Given the description of an element on the screen output the (x, y) to click on. 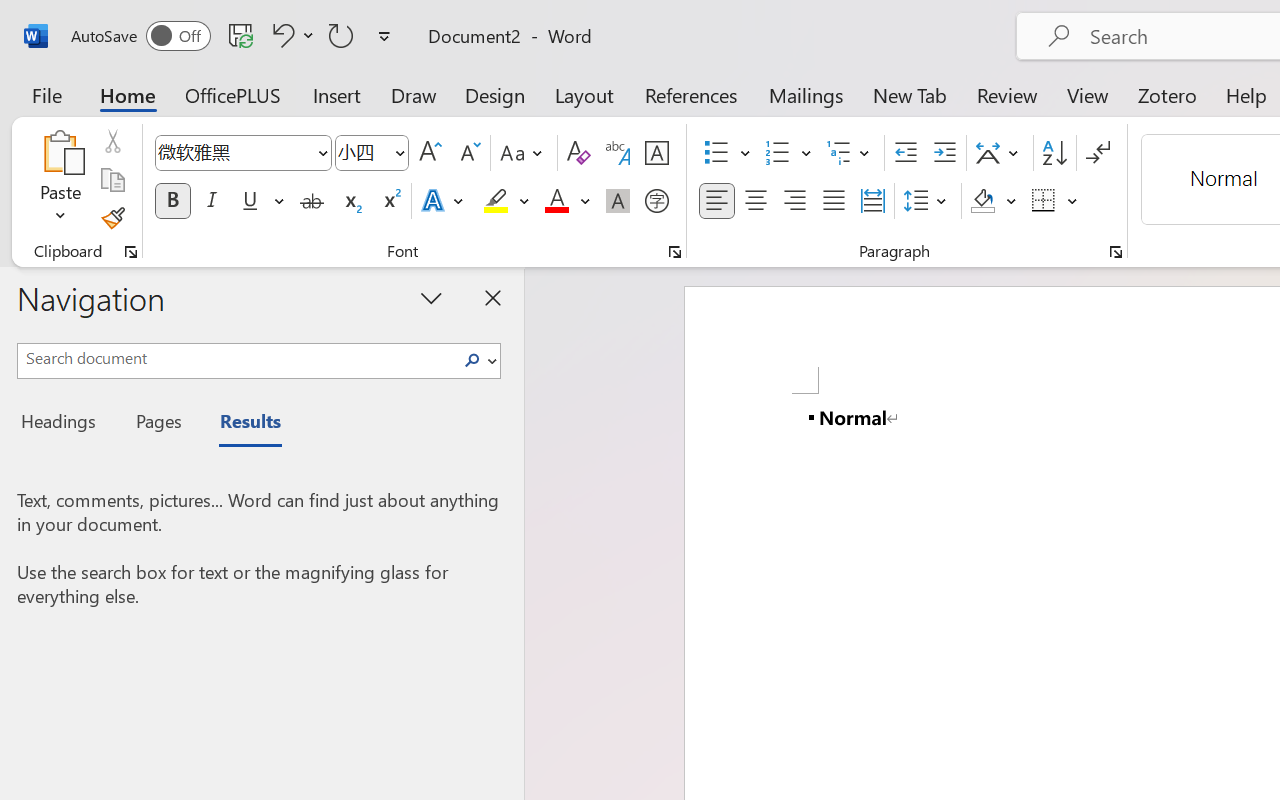
Insert (337, 94)
Strikethrough (312, 201)
Undo <ApplyStyleToDoc>b__0 (280, 35)
New Tab (909, 94)
Headings (64, 424)
Font Size (372, 153)
OfficePLUS (233, 94)
Character Border (656, 153)
More Options (1073, 201)
Borders (1055, 201)
Shading RGB(0, 0, 0) (982, 201)
Decrease Indent (906, 153)
Search (478, 360)
Cut (112, 141)
Open (399, 152)
